Given the description of an element on the screen output the (x, y) to click on. 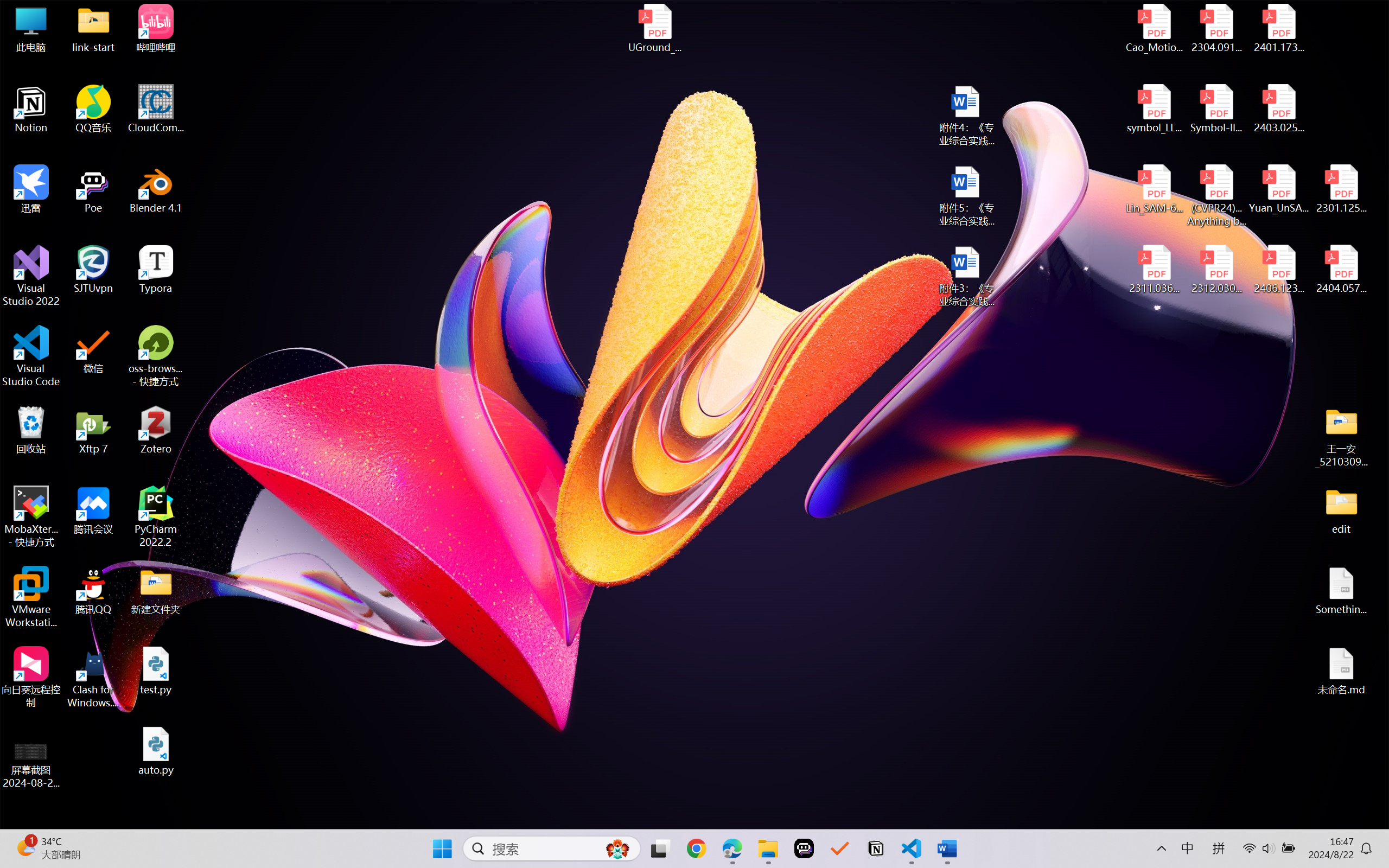
Drawing Canvas (567, 97)
Set the Wolf on the current file. (1307, 57)
remote (18, 816)
